Given the description of an element on the screen output the (x, y) to click on. 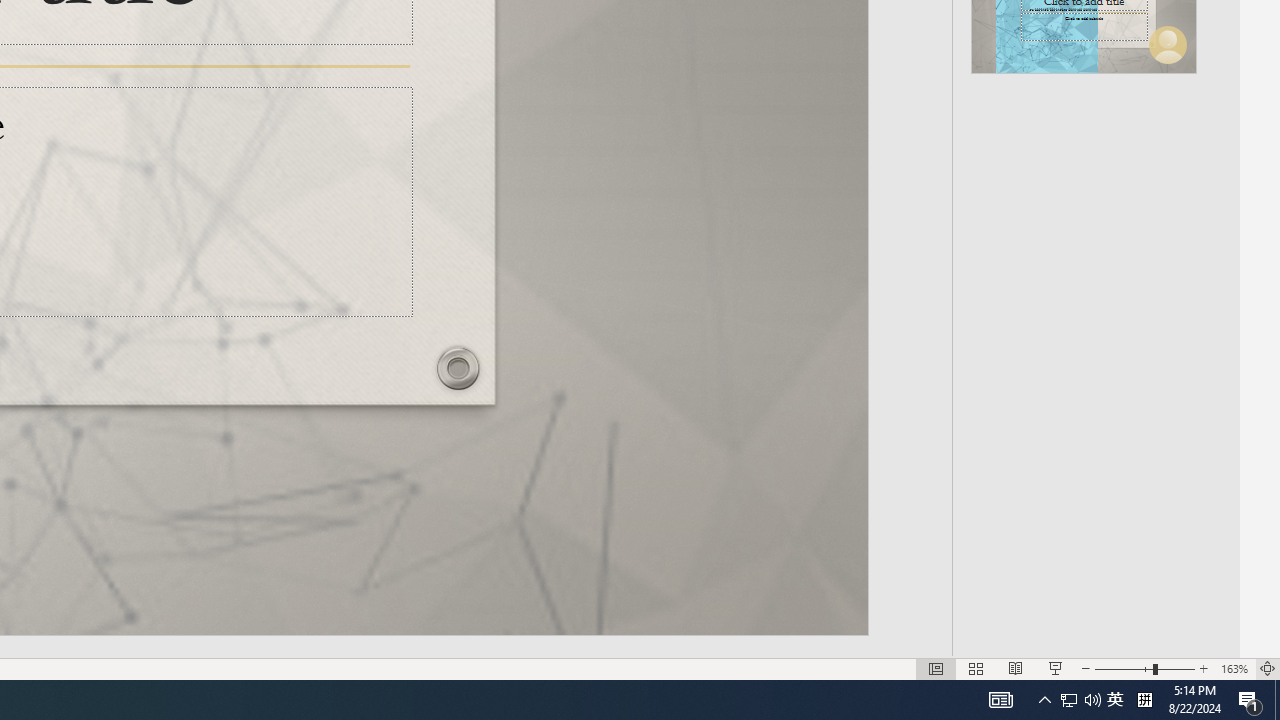
Zoom 163% (1234, 668)
